Given the description of an element on the screen output the (x, y) to click on. 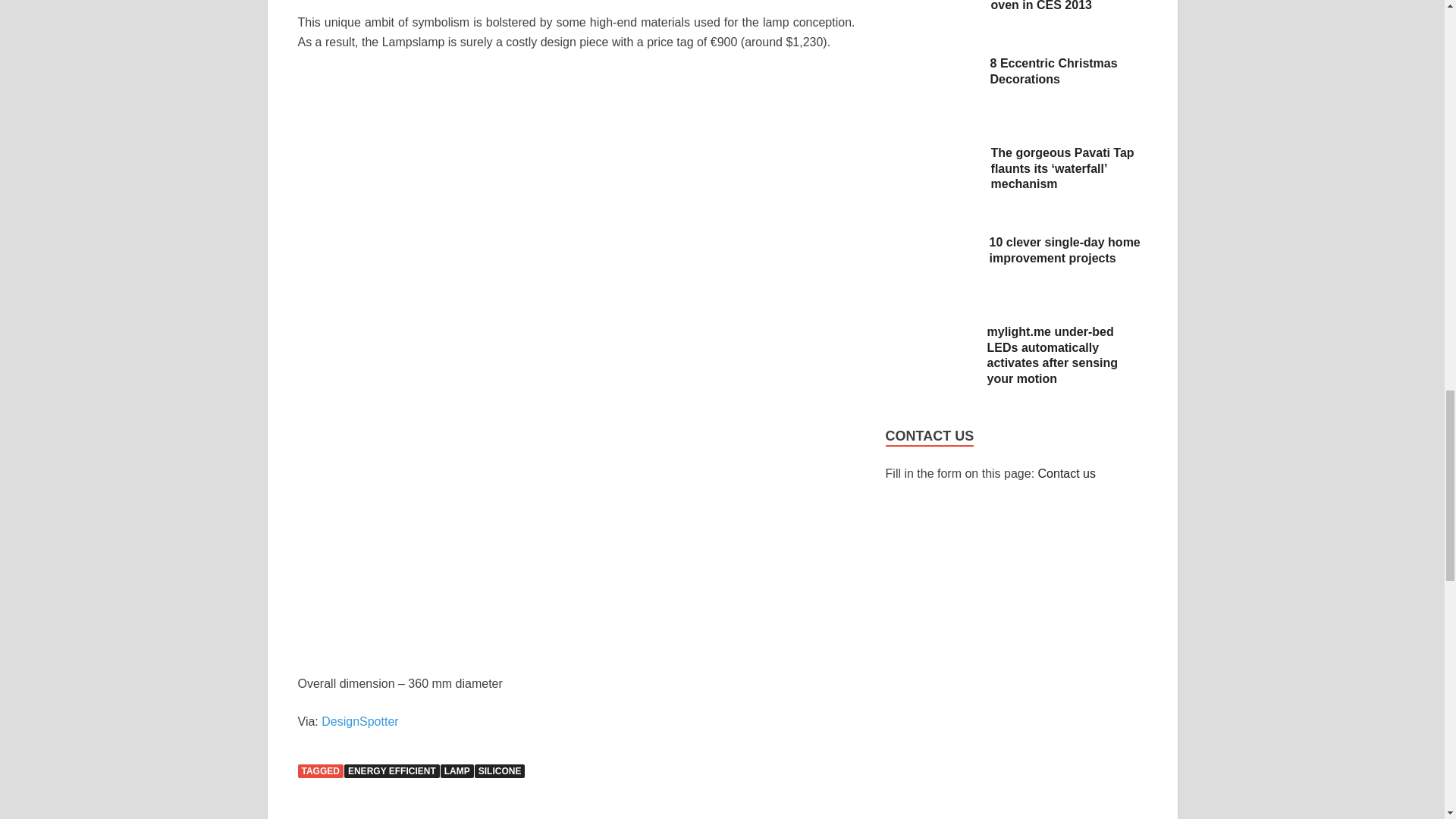
SILICONE (499, 771)
DesignSpotter (359, 721)
LAMP (457, 771)
ENERGY EFFICIENT (391, 771)
